Given the description of an element on the screen output the (x, y) to click on. 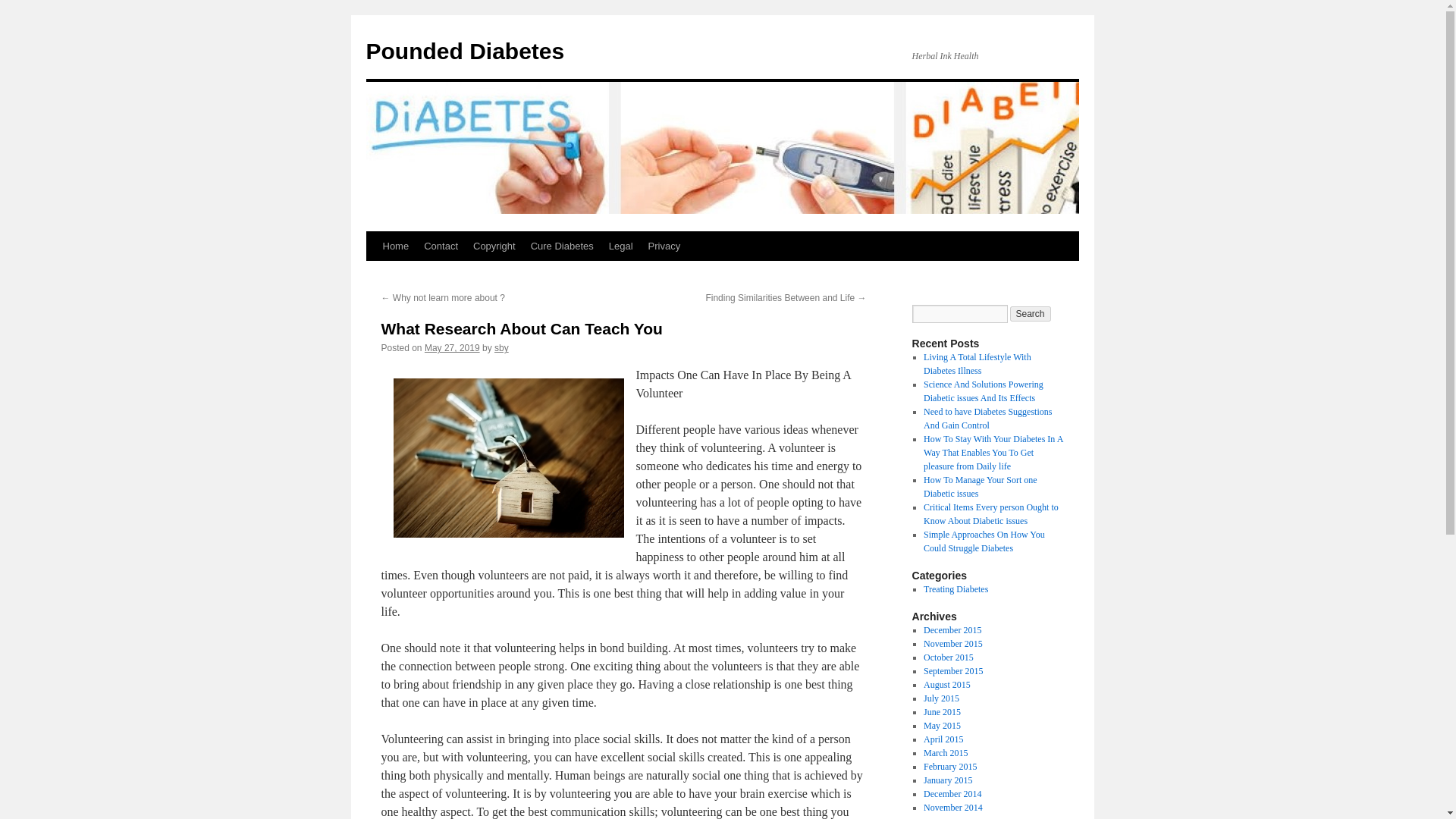
July 2015 (941, 697)
April 2015 (942, 738)
Pounded Diabetes (464, 50)
View all posts by sby (501, 347)
January 2015 (947, 779)
Search (1030, 313)
Contact (440, 246)
How To Manage Your Sort one Diabetic issues (979, 486)
Legal (620, 246)
